Given the description of an element on the screen output the (x, y) to click on. 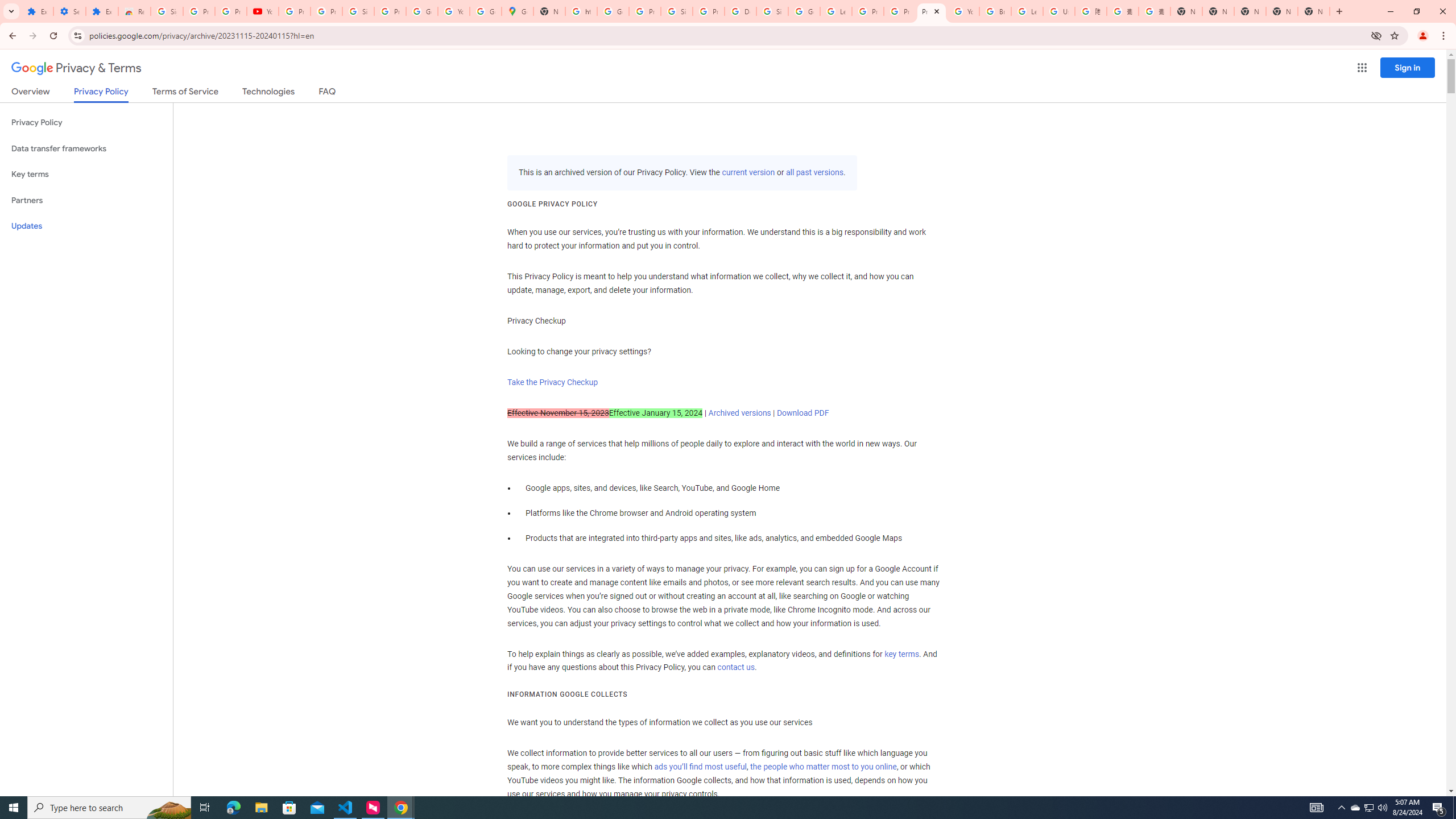
Google Maps (517, 11)
YouTube (262, 11)
New Tab (1313, 11)
